Given the description of an element on the screen output the (x, y) to click on. 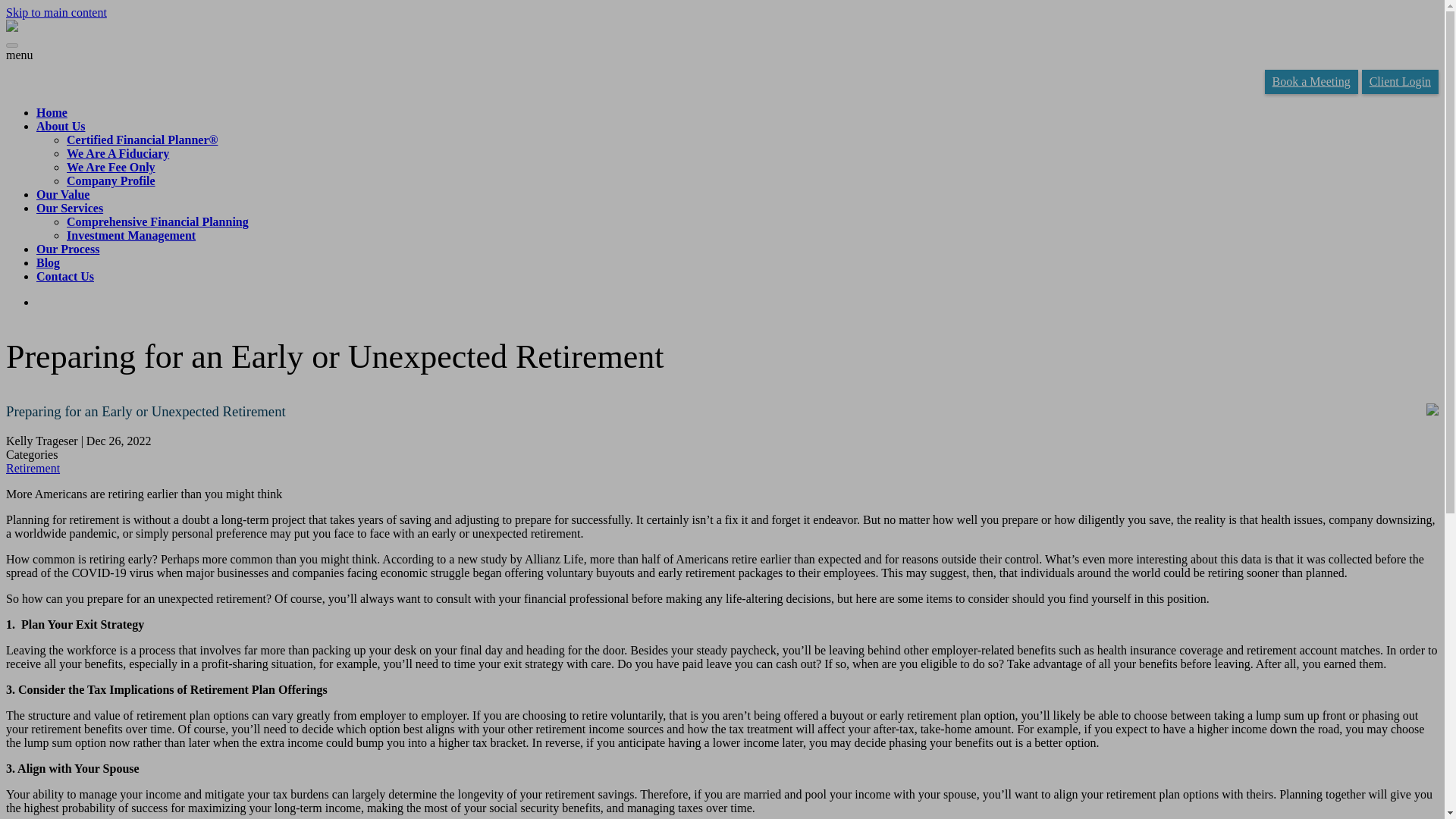
Comprehensive Financial Planning (157, 221)
Our Value (62, 194)
Book a Meeting (1311, 81)
We Are Fee Only (110, 166)
Investment Management (130, 235)
Retirement (32, 468)
Our Services (69, 207)
Skip to main content (55, 11)
Our Process (67, 248)
We Are A Fiduciary (117, 153)
Our Services (69, 207)
contact (65, 276)
Contact Us (65, 276)
About Us (60, 125)
Company Profile (110, 180)
